Given the description of an element on the screen output the (x, y) to click on. 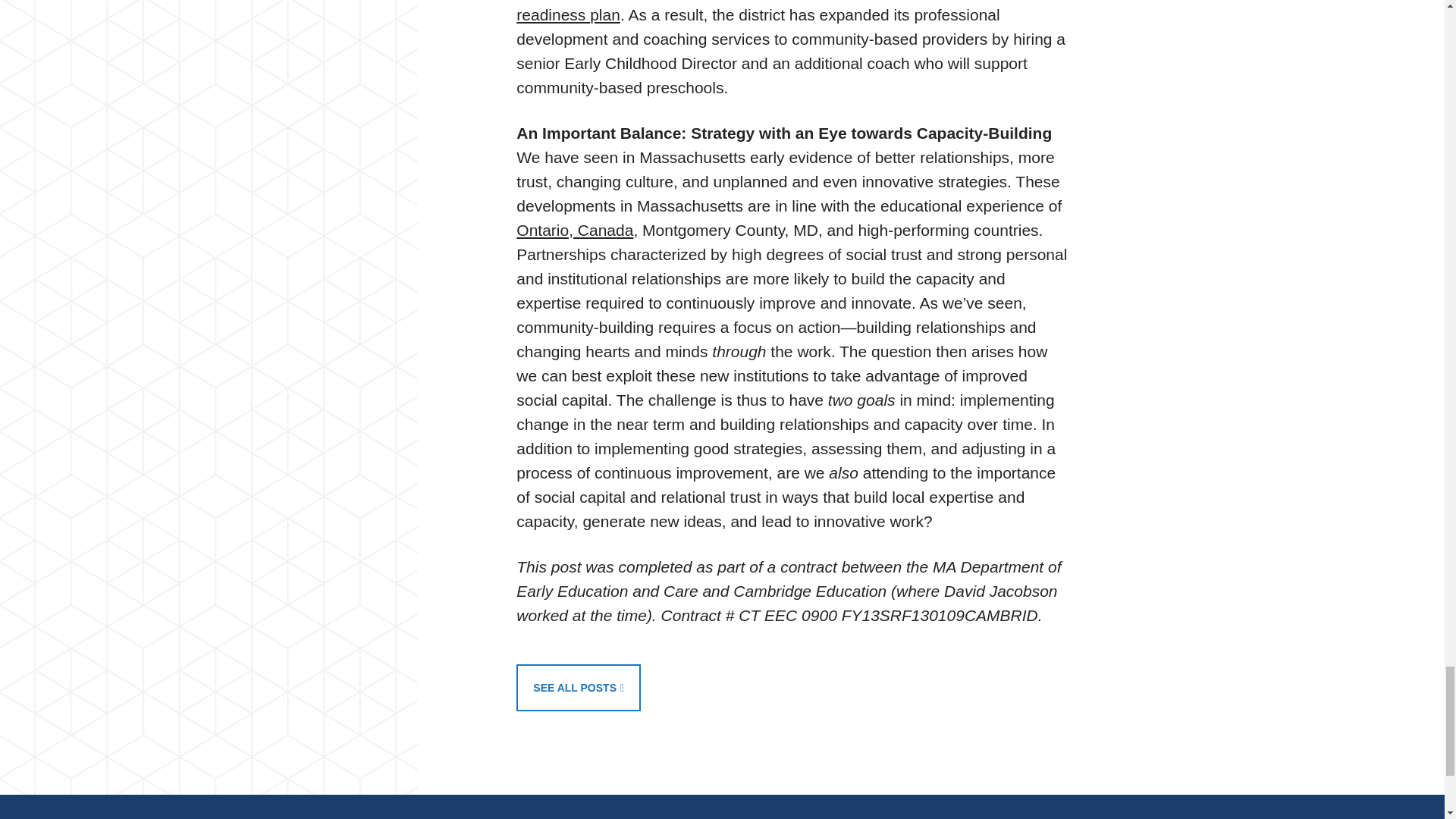
universal kindergarten readiness plan (761, 11)
SEE ALL POSTS (578, 687)
Ontario, Canada (574, 230)
